Given the description of an element on the screen output the (x, y) to click on. 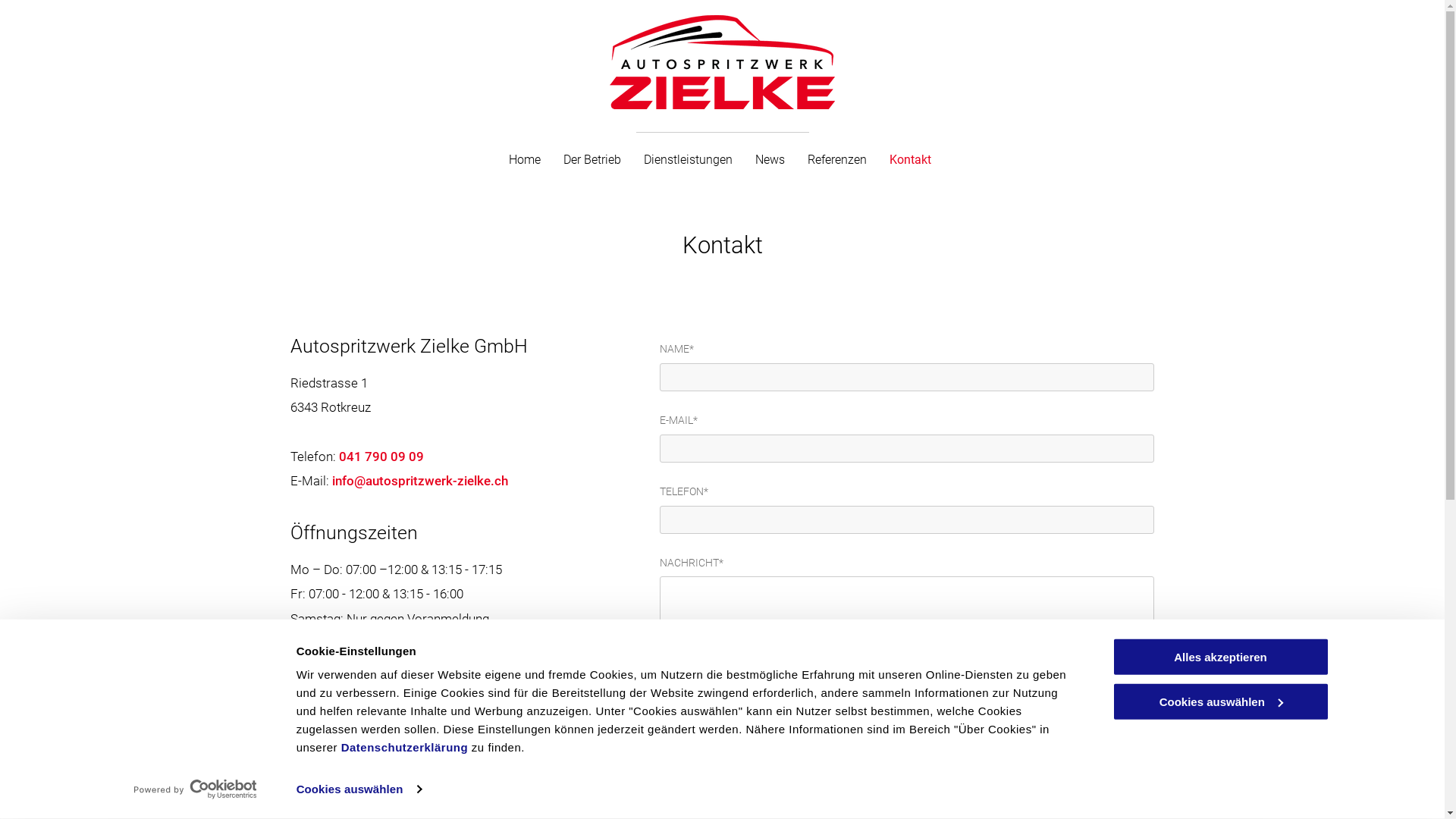
Referenzen Element type: text (836, 159)
News Element type: text (769, 159)
info@autospritzwerk-zielke.ch Element type: text (420, 480)
SENDEN Element type: text (703, 679)
Home Element type: text (524, 159)
Alles akzeptieren Element type: text (1219, 656)
041 790 09 09 Element type: text (380, 456)
Kontakt Element type: text (910, 159)
Der Betrieb Element type: text (592, 159)
Dienstleistungen Element type: text (687, 159)
